Given the description of an element on the screen output the (x, y) to click on. 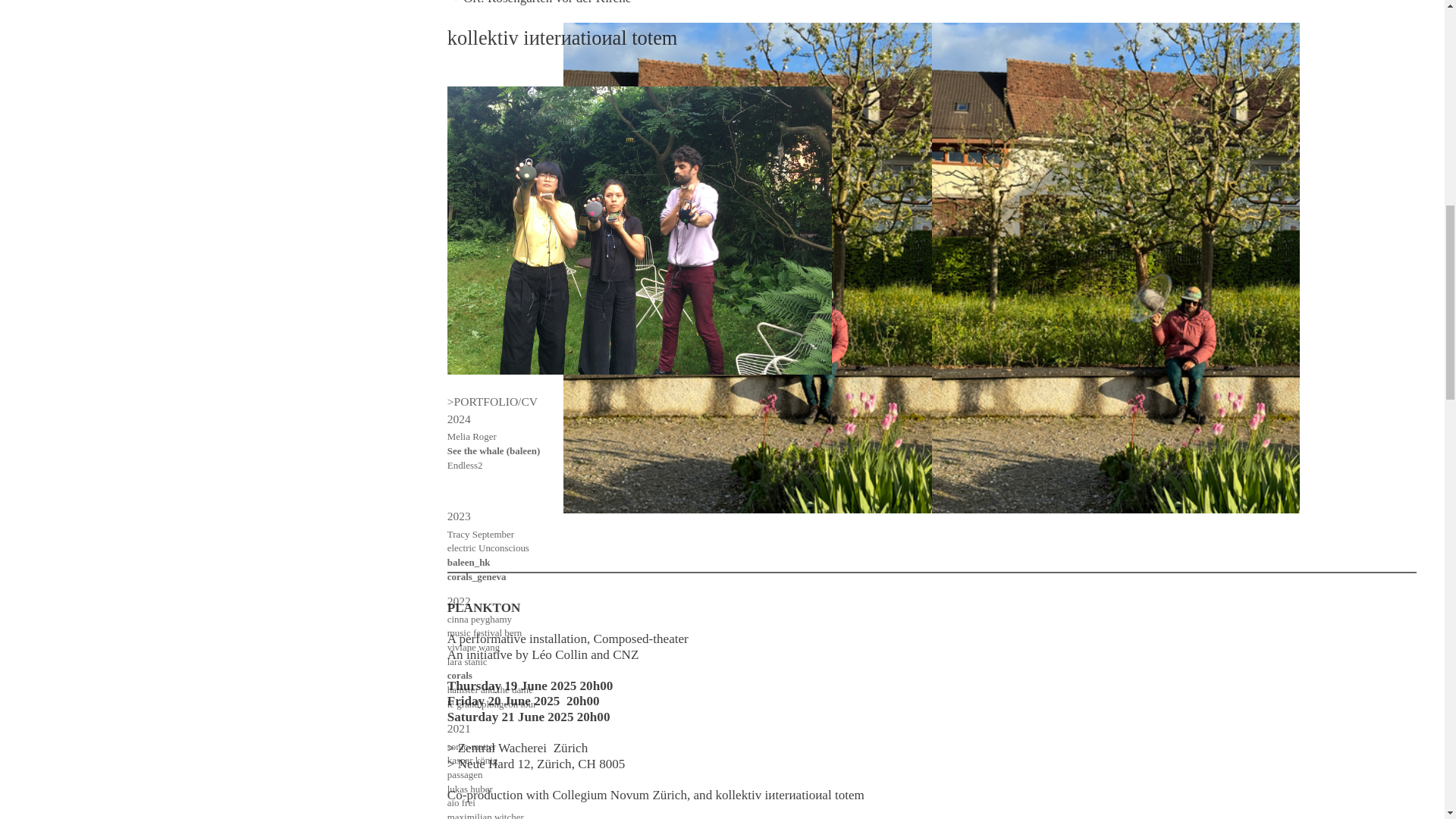
florent caron darras (485, 153)
maximilian witcher (485, 2)
medusen (465, 40)
simone keller (473, 106)
antoine chessex (477, 96)
charles quevillon  (481, 167)
ko-operator (469, 82)
baleen (460, 195)
charles kwong (474, 68)
numu (457, 181)
tilde (455, 210)
